Given the description of an element on the screen output the (x, y) to click on. 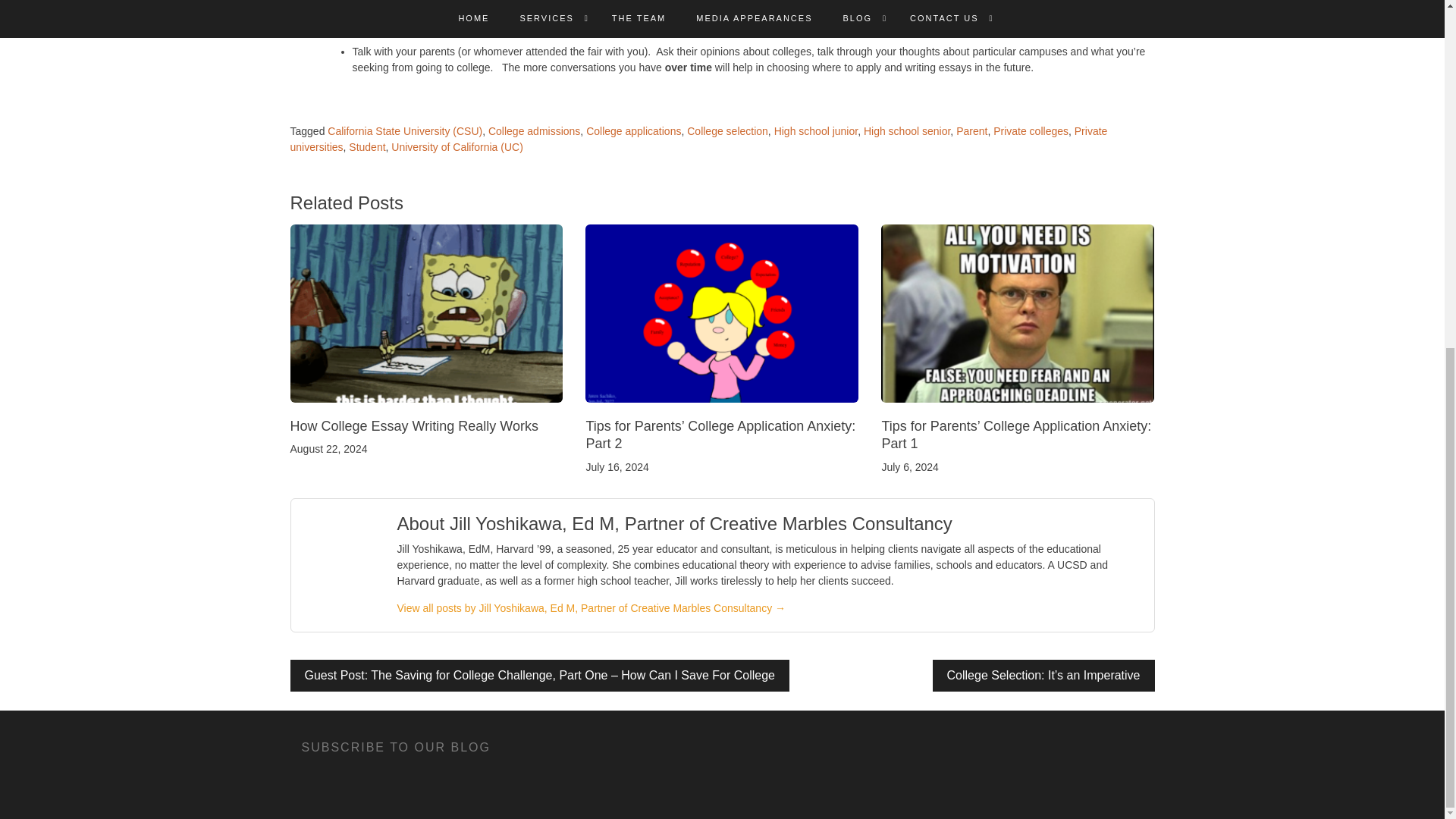
High school junior (816, 131)
Private colleges (1030, 131)
High school senior (906, 131)
How College Essay Writing Really Works (413, 426)
Student (367, 146)
College applications (633, 131)
Parent (971, 131)
College selection (727, 131)
Private universities (697, 139)
College admissions (533, 131)
